Given the description of an element on the screen output the (x, y) to click on. 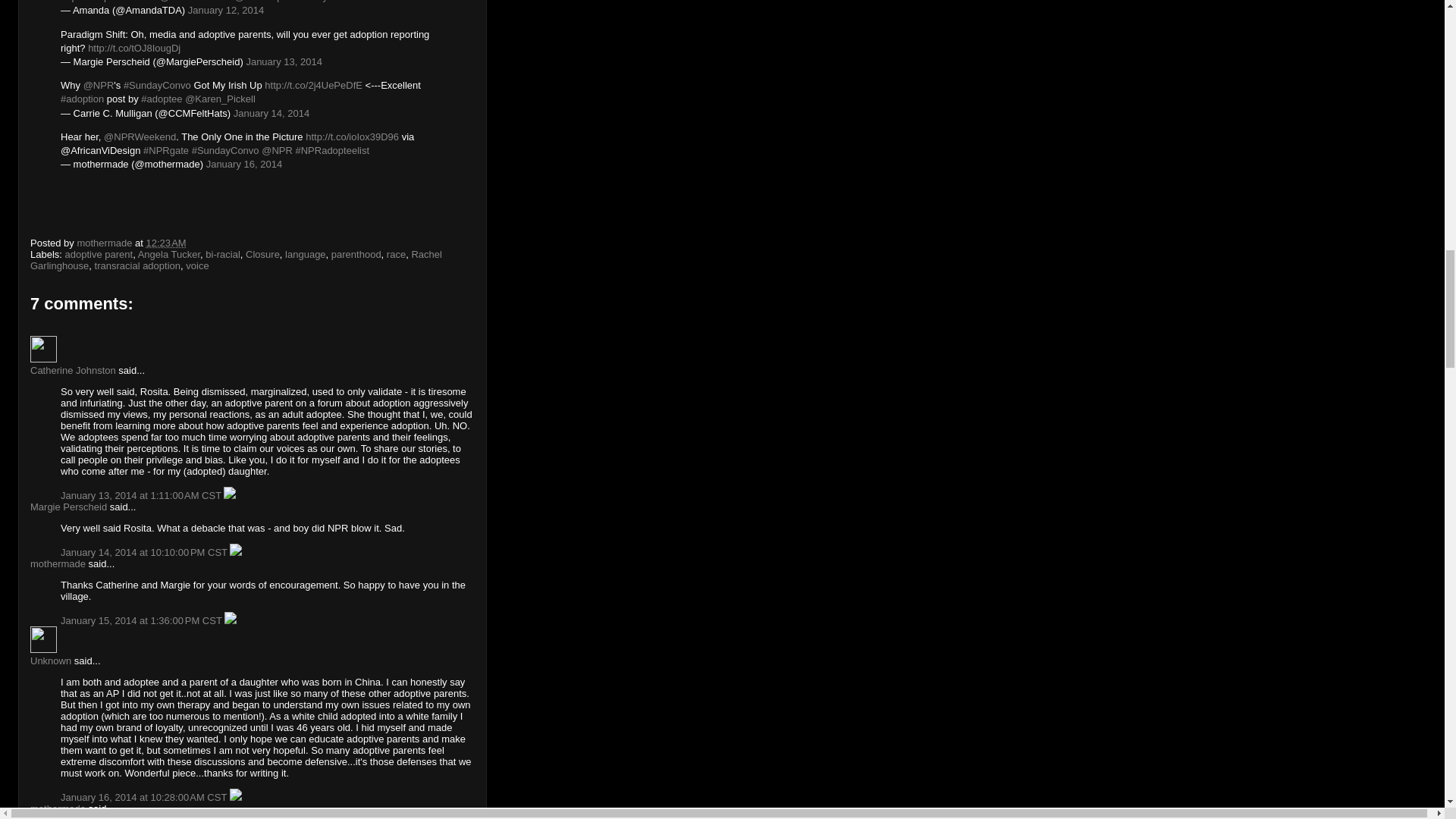
comment permalink (142, 495)
January 13, 2014 (283, 61)
permanent link (166, 242)
Unknown (43, 639)
Delete Comment (235, 552)
comment permalink (145, 552)
author profile (106, 242)
Catherine Johnston (43, 348)
January 14, 2014 (270, 112)
Delete Comment (229, 495)
Delete Comment (235, 797)
January 12, 2014 (225, 9)
comment permalink (142, 620)
comment permalink (145, 797)
Delete Comment (229, 620)
